Given the description of an element on the screen output the (x, y) to click on. 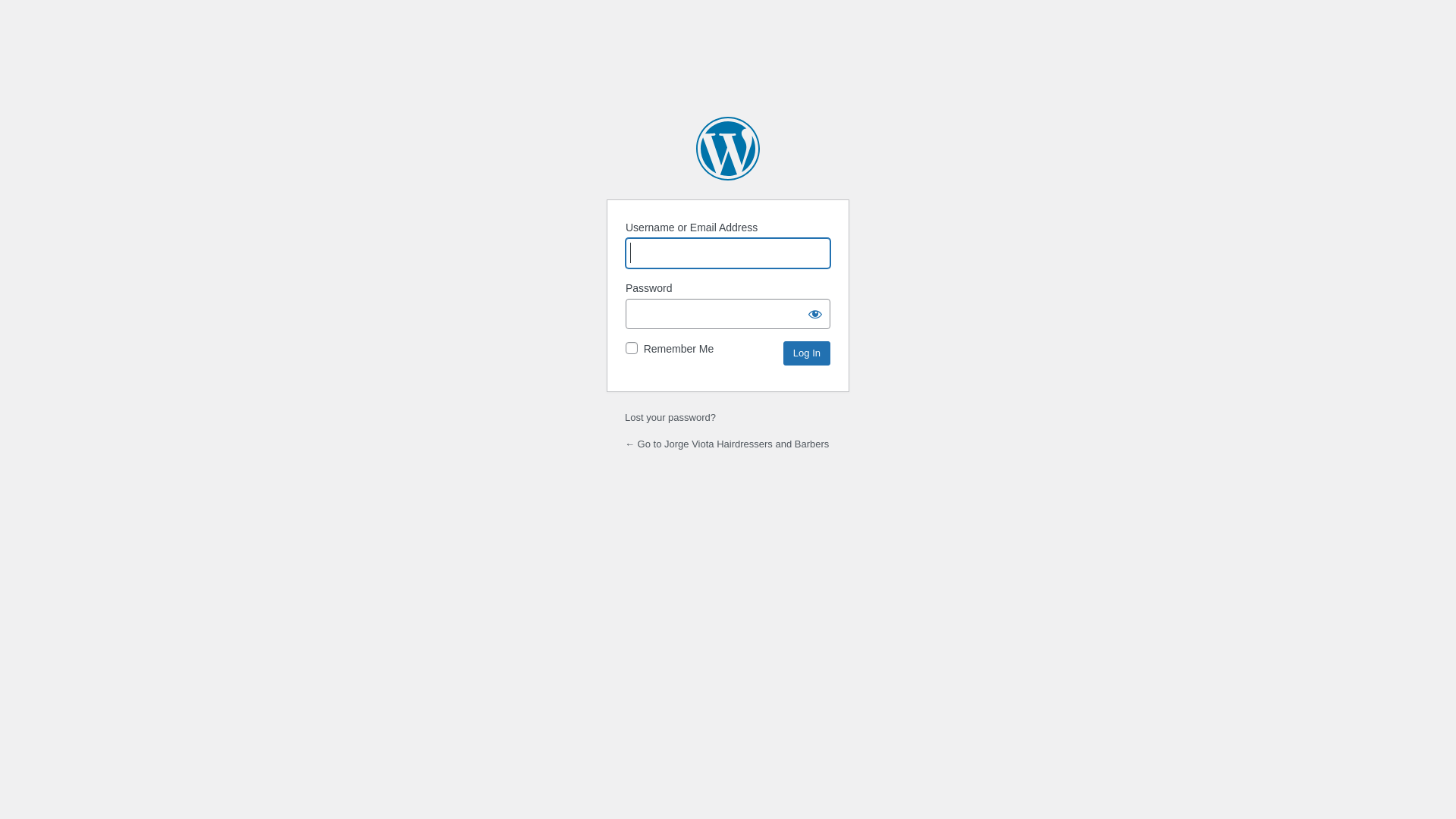
Lost your password? Element type: text (669, 417)
Log In Element type: text (806, 353)
Powered by WordPress Element type: text (727, 148)
